Given the description of an element on the screen output the (x, y) to click on. 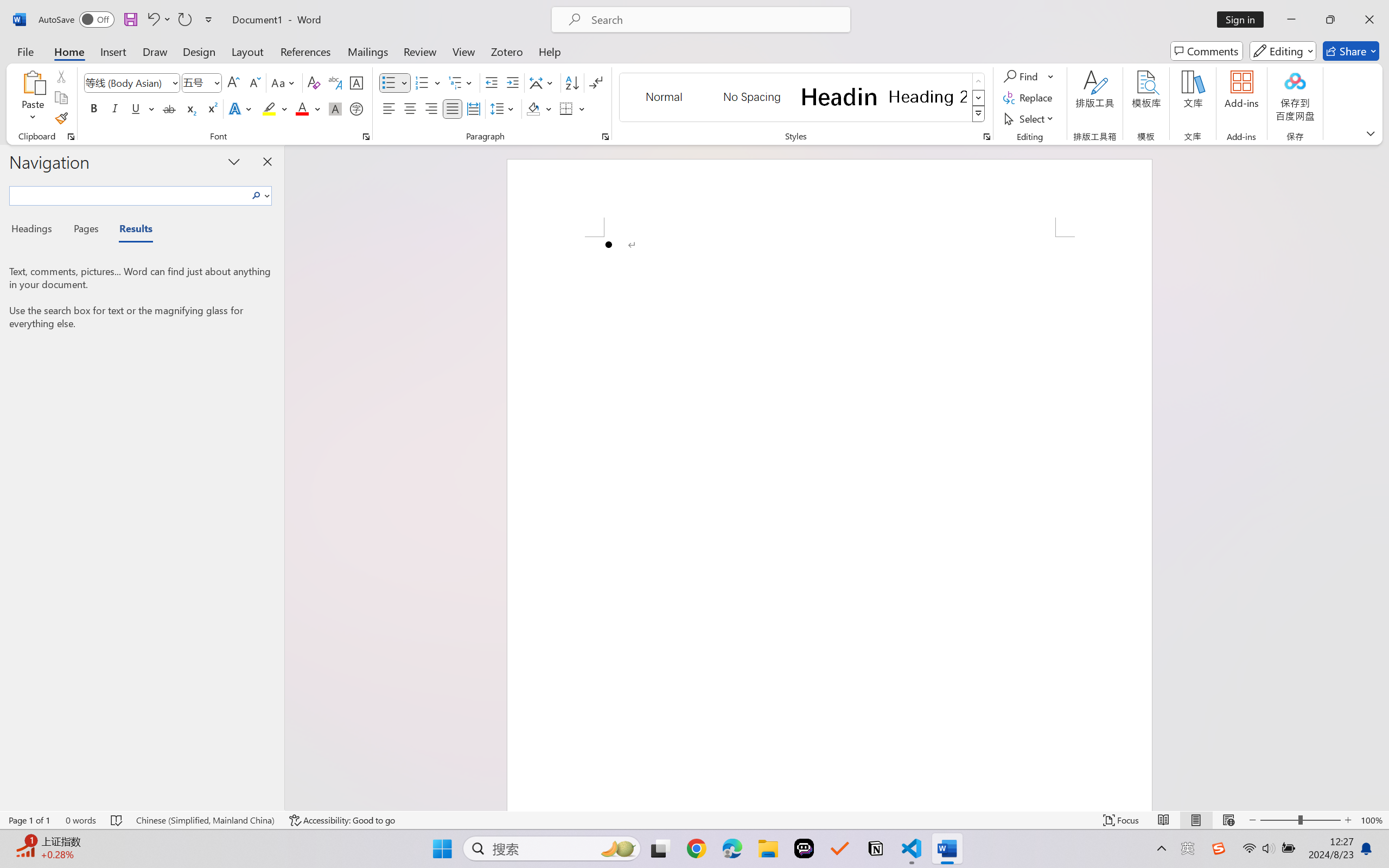
Repeat Bullet Default (184, 19)
Search document (128, 193)
